Given the description of an element on the screen output the (x, y) to click on. 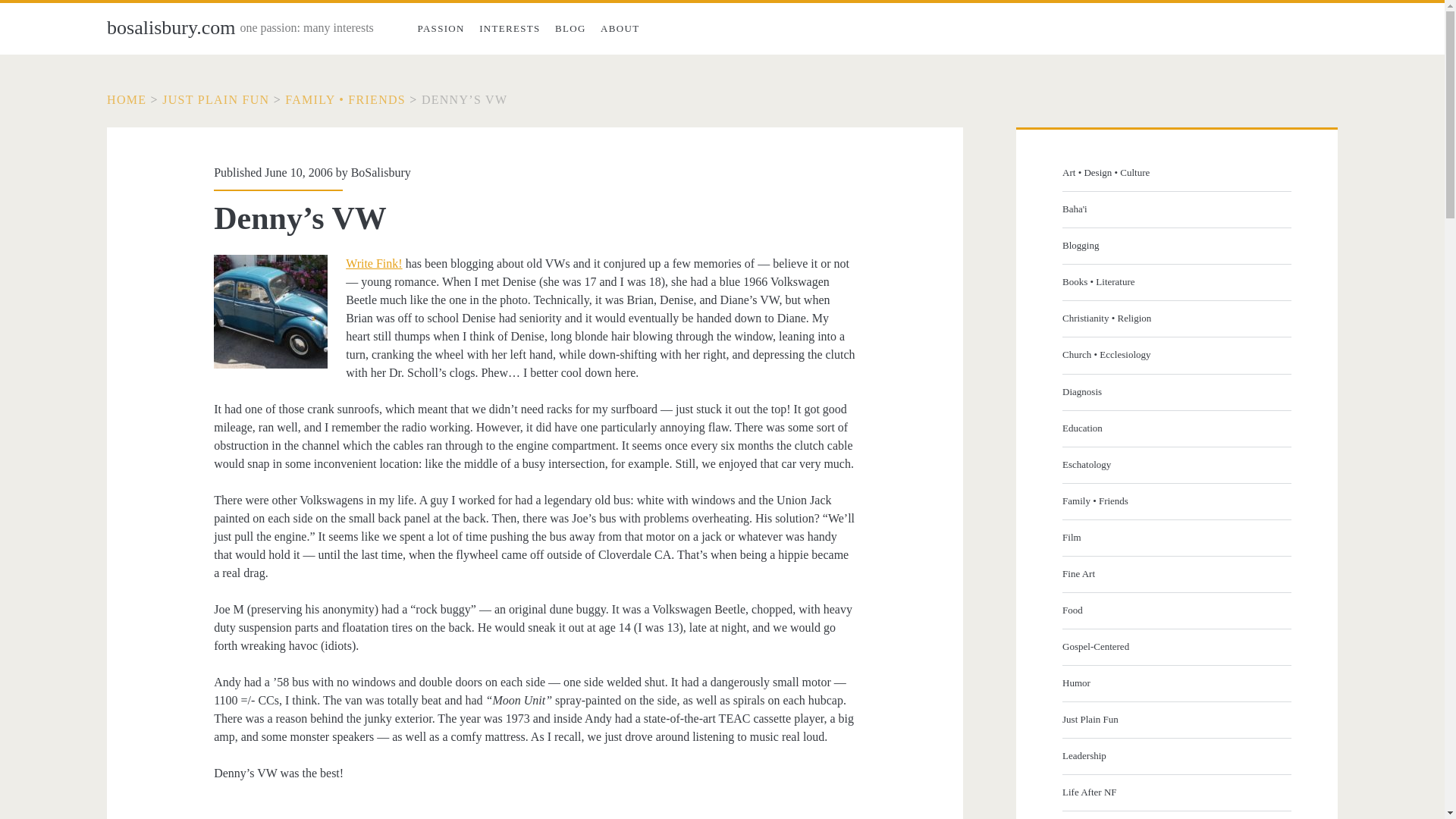
Posts by BoSalisbury (380, 172)
Home (126, 99)
ABOUT (619, 28)
Tony Roan (373, 263)
INTERESTS (509, 28)
bosalisbury.com (170, 27)
PASSION (440, 28)
